Given the description of an element on the screen output the (x, y) to click on. 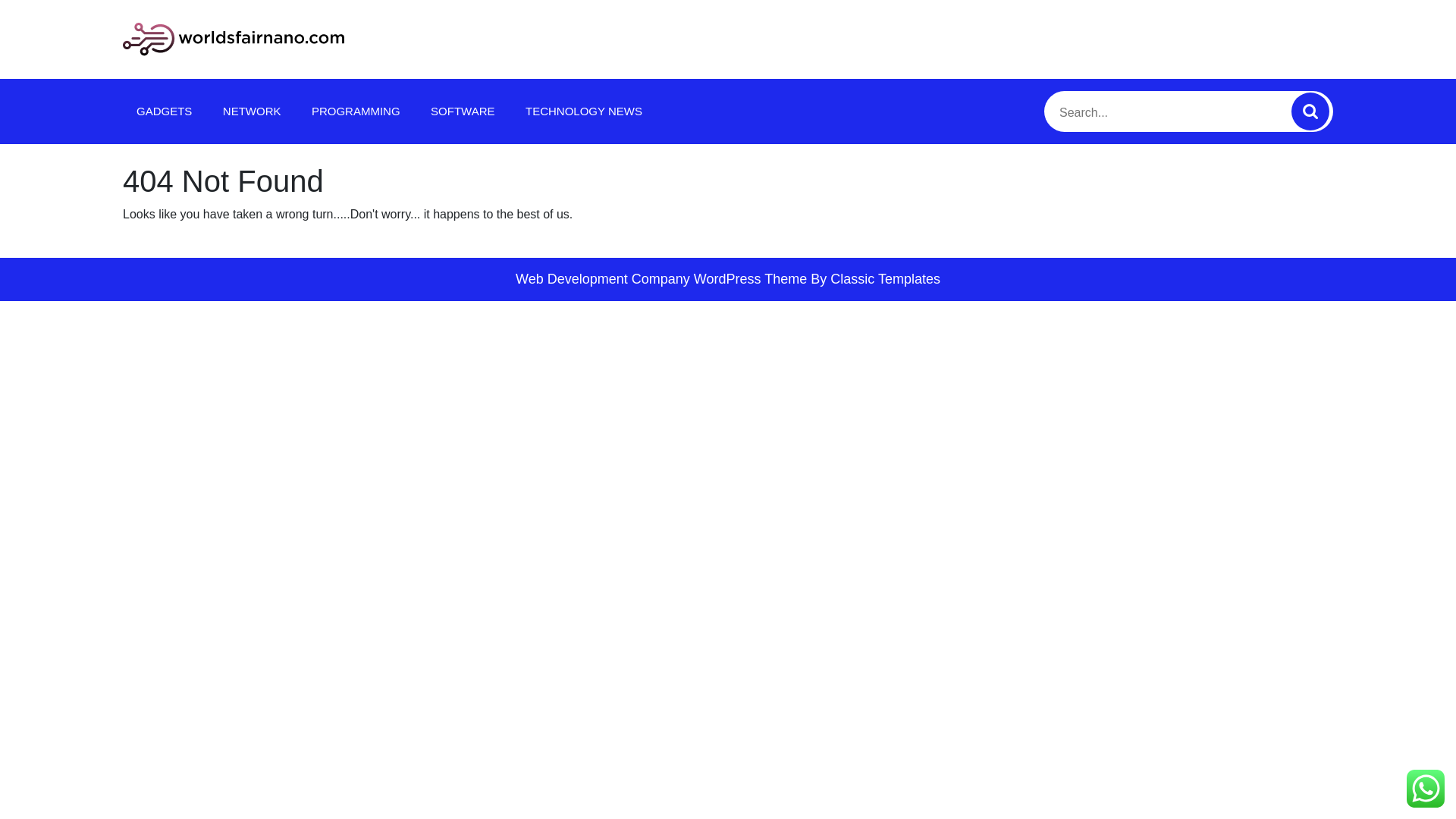
GADGETS (163, 111)
TECHNOLOGY NEWS (584, 111)
NETWORK (252, 111)
Search (1310, 111)
Search (1310, 111)
PROGRAMMING (355, 111)
Search (1310, 111)
Web Development Company WordPress Theme (660, 278)
SOFTWARE (462, 111)
